Given the description of an element on the screen output the (x, y) to click on. 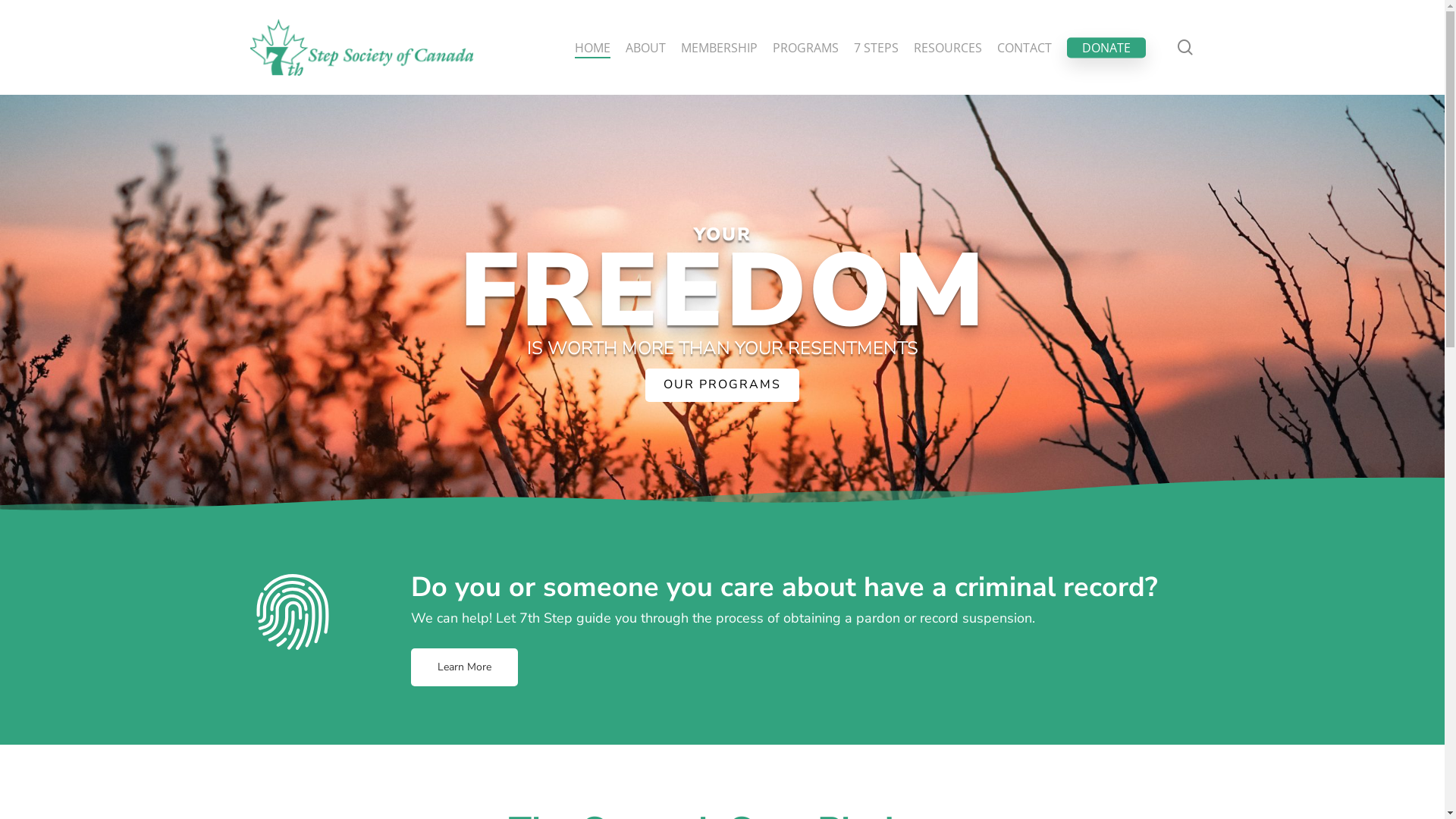
DONATE Element type: text (1105, 46)
HOME Element type: text (592, 46)
Submit Element type: text (759, 664)
CONTACT Element type: text (1024, 46)
Learn More Element type: text (464, 667)
RESOURCES Element type: text (947, 46)
search Element type: text (1185, 47)
ABOUT Element type: text (645, 46)
OUR PROGRAMS Element type: text (722, 384)
MEMBERSHIP Element type: text (718, 46)
7 STEPS Element type: text (875, 46)
seventh@7thstep.ca Element type: text (342, 537)
PROGRAMS Element type: text (805, 46)
